Given the description of an element on the screen output the (x, y) to click on. 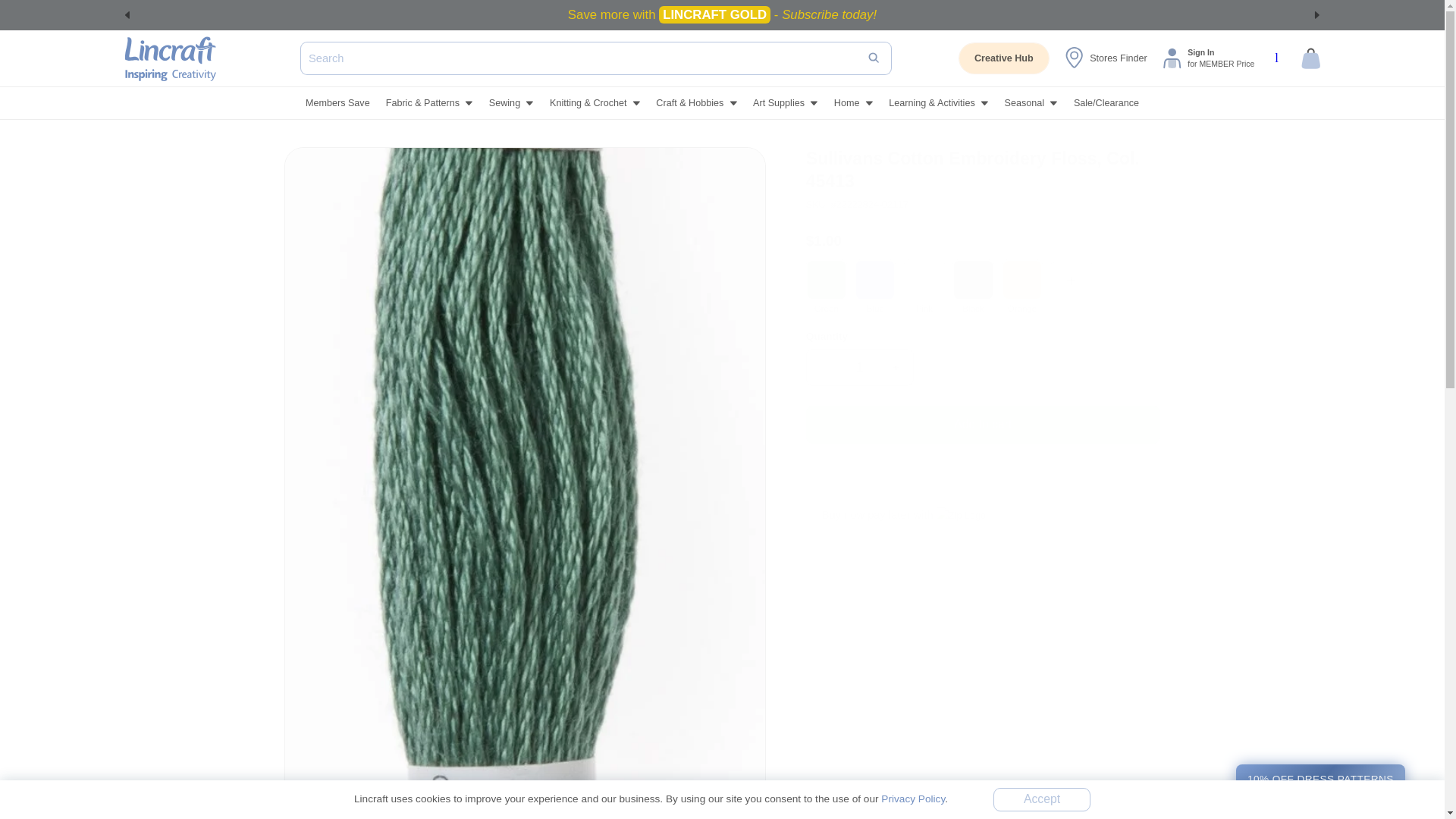
1 (860, 366)
Accept (1041, 799)
Save more with LINCRAFT GOLD - Subscribe today! (722, 15)
Privacy Policy (912, 798)
Skip to content (48, 18)
